Given the description of an element on the screen output the (x, y) to click on. 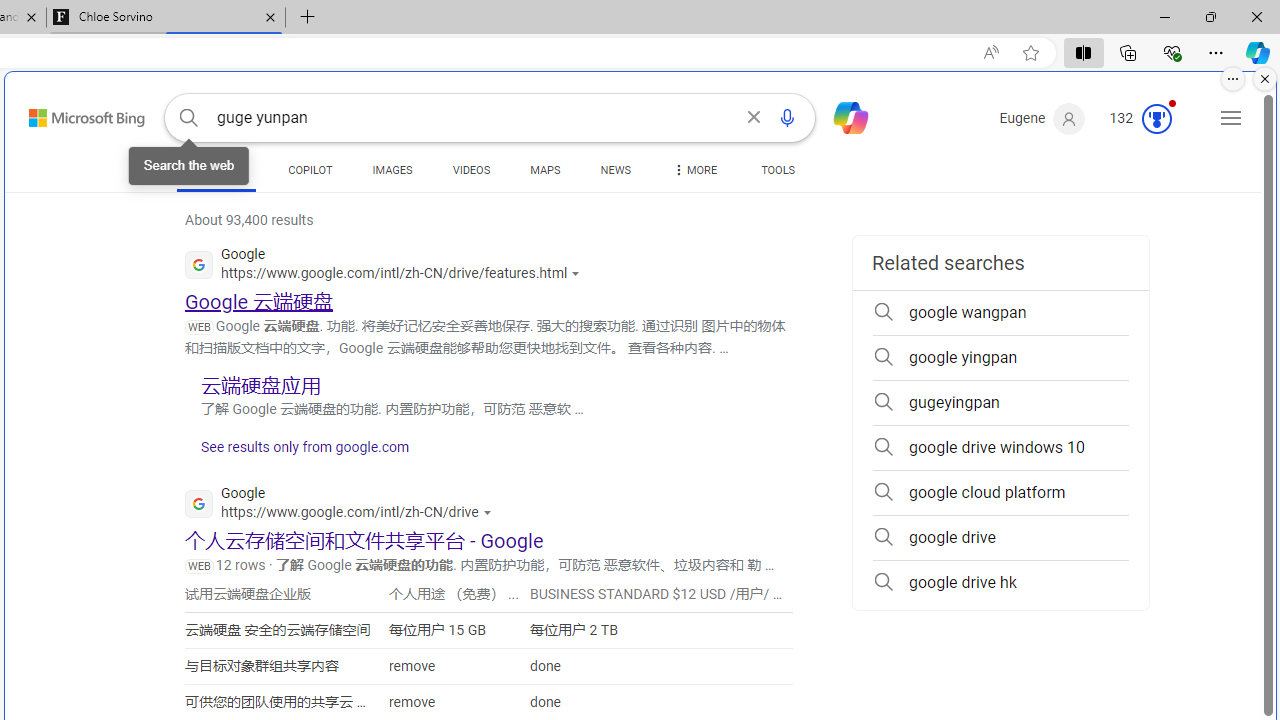
MORE (693, 173)
google drive windows 10 (1000, 448)
MAPS (545, 170)
Eugene (1041, 119)
Chat (842, 116)
NEWS (614, 170)
Chat (842, 116)
Settings and quick links (1231, 117)
